Given the description of an element on the screen output the (x, y) to click on. 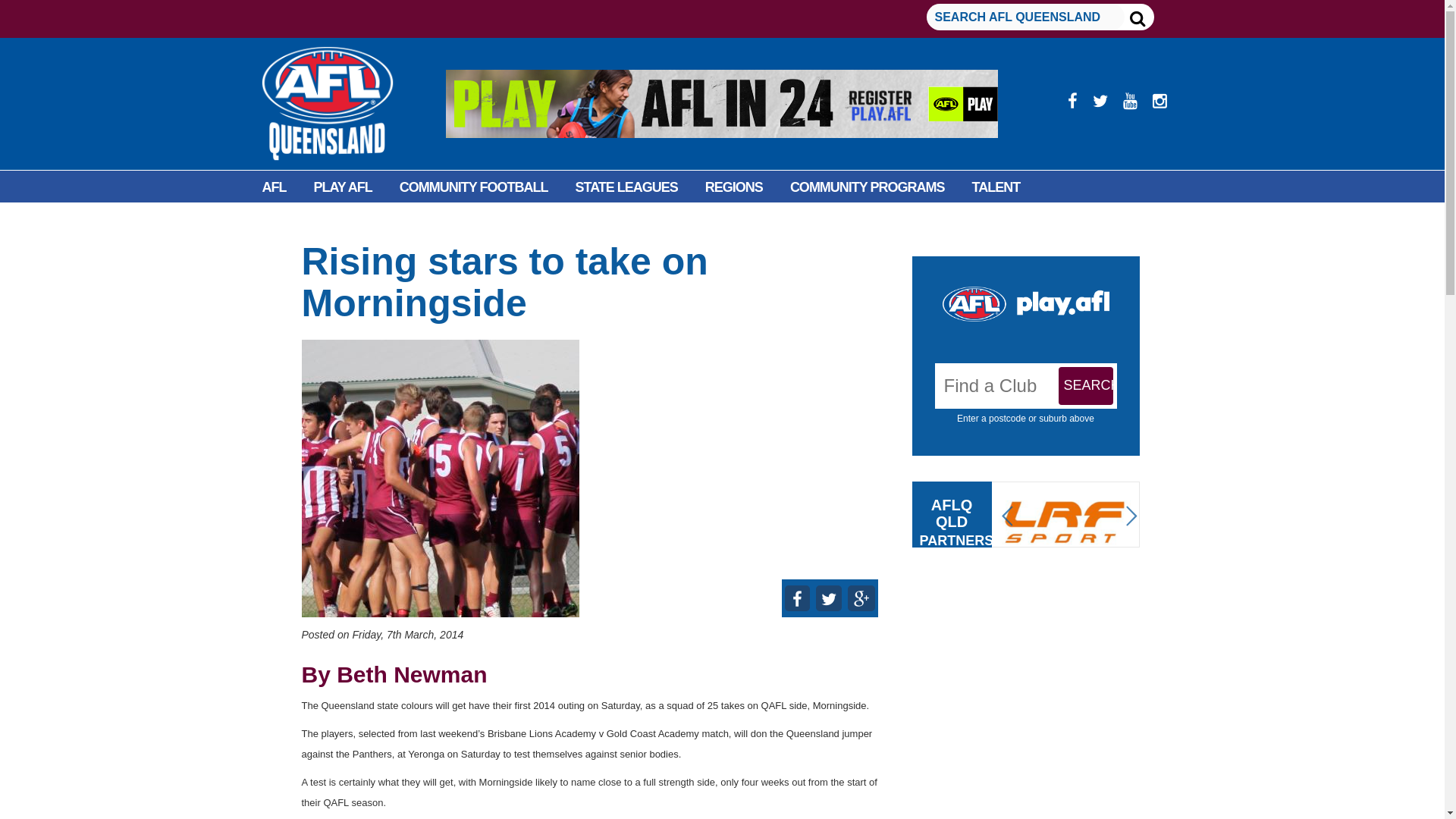
Search (1085, 385)
COMMUNITY PROGRAMS (867, 187)
REGIONS (733, 187)
Search (1085, 385)
TALENT (995, 187)
STATE LEAGUES (626, 187)
FACILITIES (295, 221)
PLAY AFL (342, 187)
INFORMATION HUB (414, 221)
COMMUNITY FOOTBALL (473, 187)
AFL (273, 187)
